Given the description of an element on the screen output the (x, y) to click on. 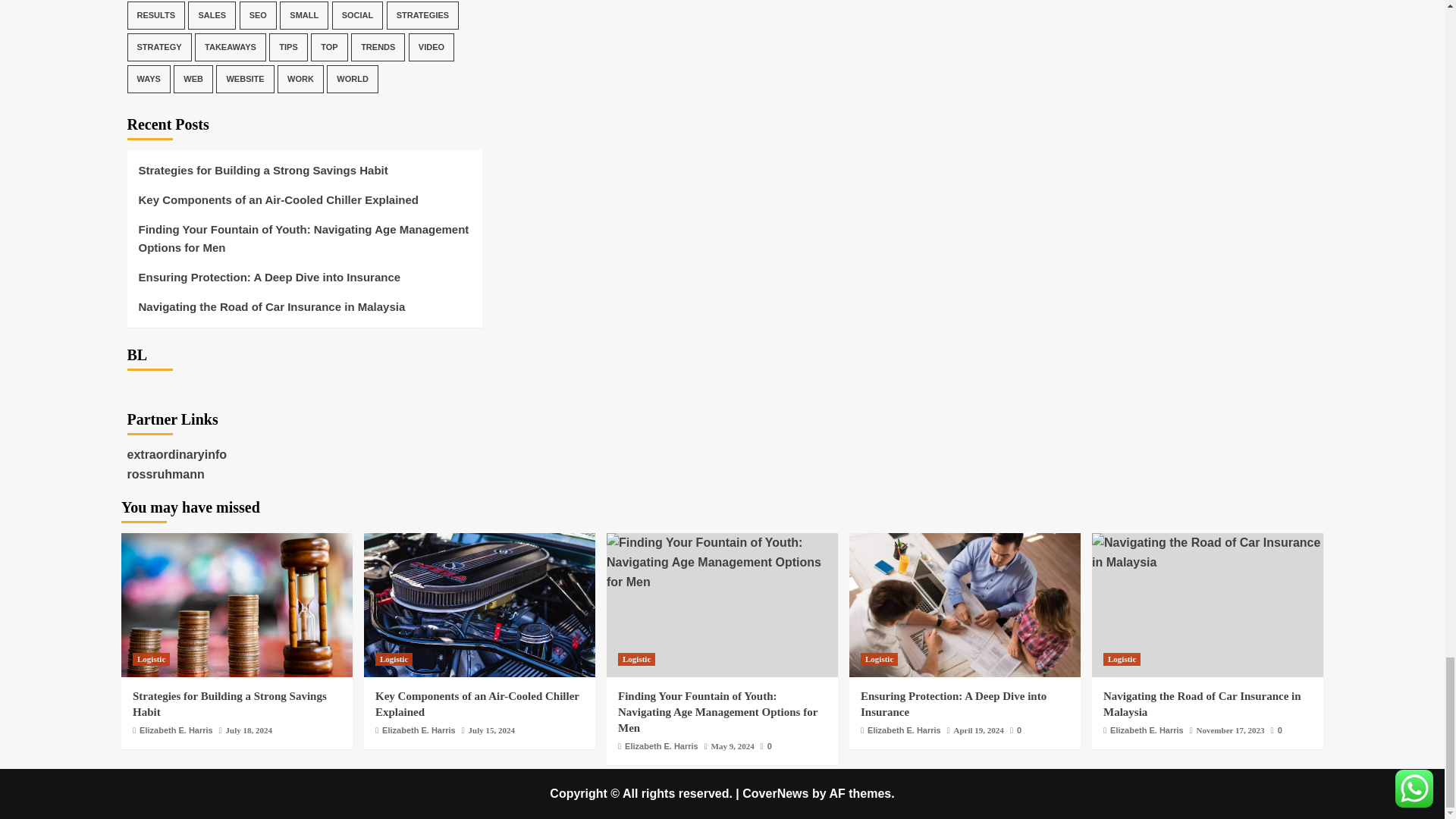
Key Components of an Air-Cooled Chiller Explained (479, 605)
Navigating the Road of Car Insurance in Malaysia (1207, 552)
Strategies for Building a Strong Savings Habit (236, 605)
